Given the description of an element on the screen output the (x, y) to click on. 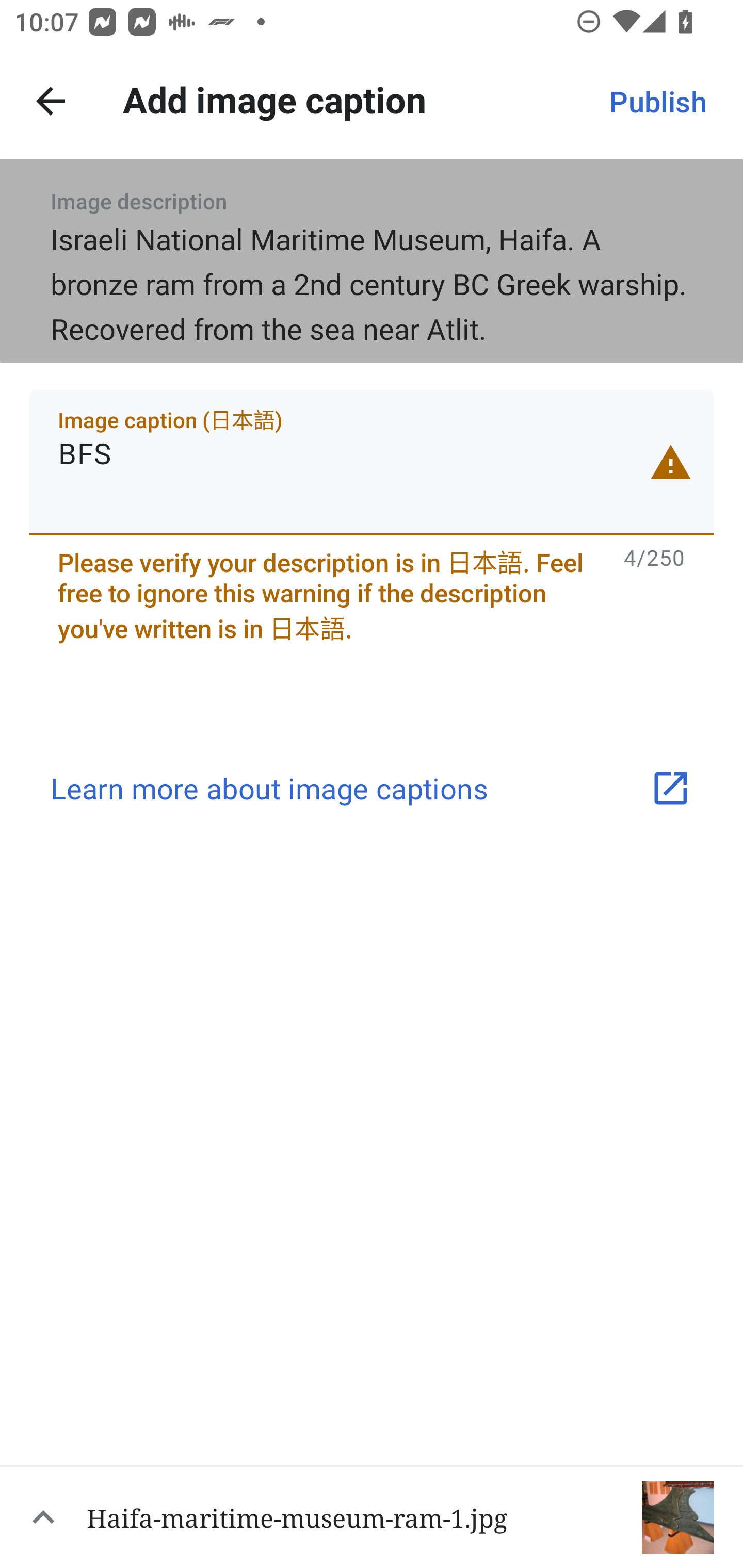
Cancel (50, 101)
Publish (657, 101)
BFS
 (371, 462)
Learn more about image captions (371, 787)
Haifa-maritime-museum-ram-1.jpg (371, 1516)
